Given the description of an element on the screen output the (x, y) to click on. 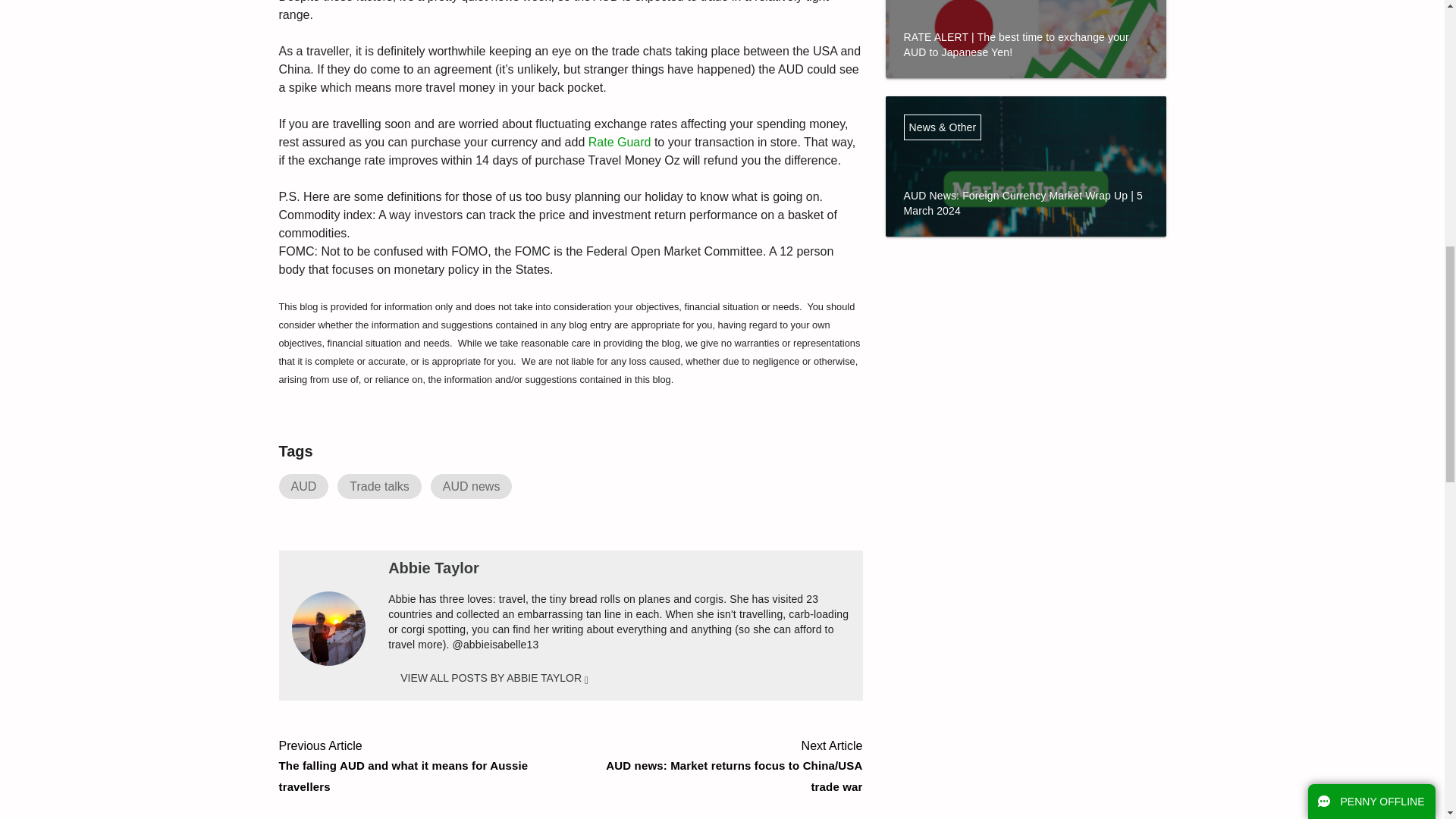
AUD Market Update Foreign Currency (1025, 188)
